Given the description of an element on the screen output the (x, y) to click on. 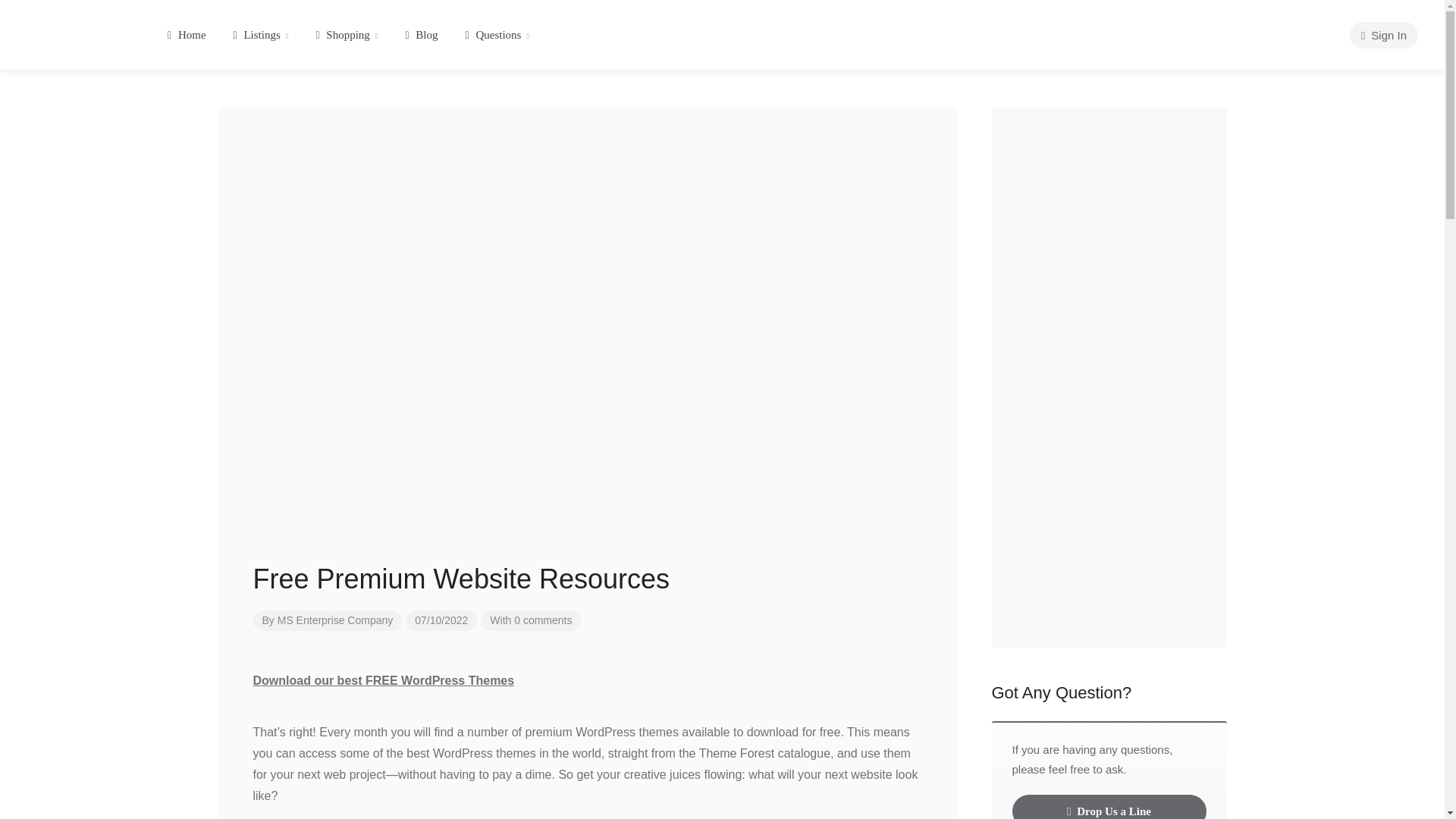
Listings (260, 35)
Blog (420, 35)
Shopping (346, 35)
Free Premium Website Resources (588, 574)
Sign In (1383, 35)
Home (185, 35)
MS Enterprise Company (335, 620)
Questions (497, 35)
dialchimp (77, 29)
